Given the description of an element on the screen output the (x, y) to click on. 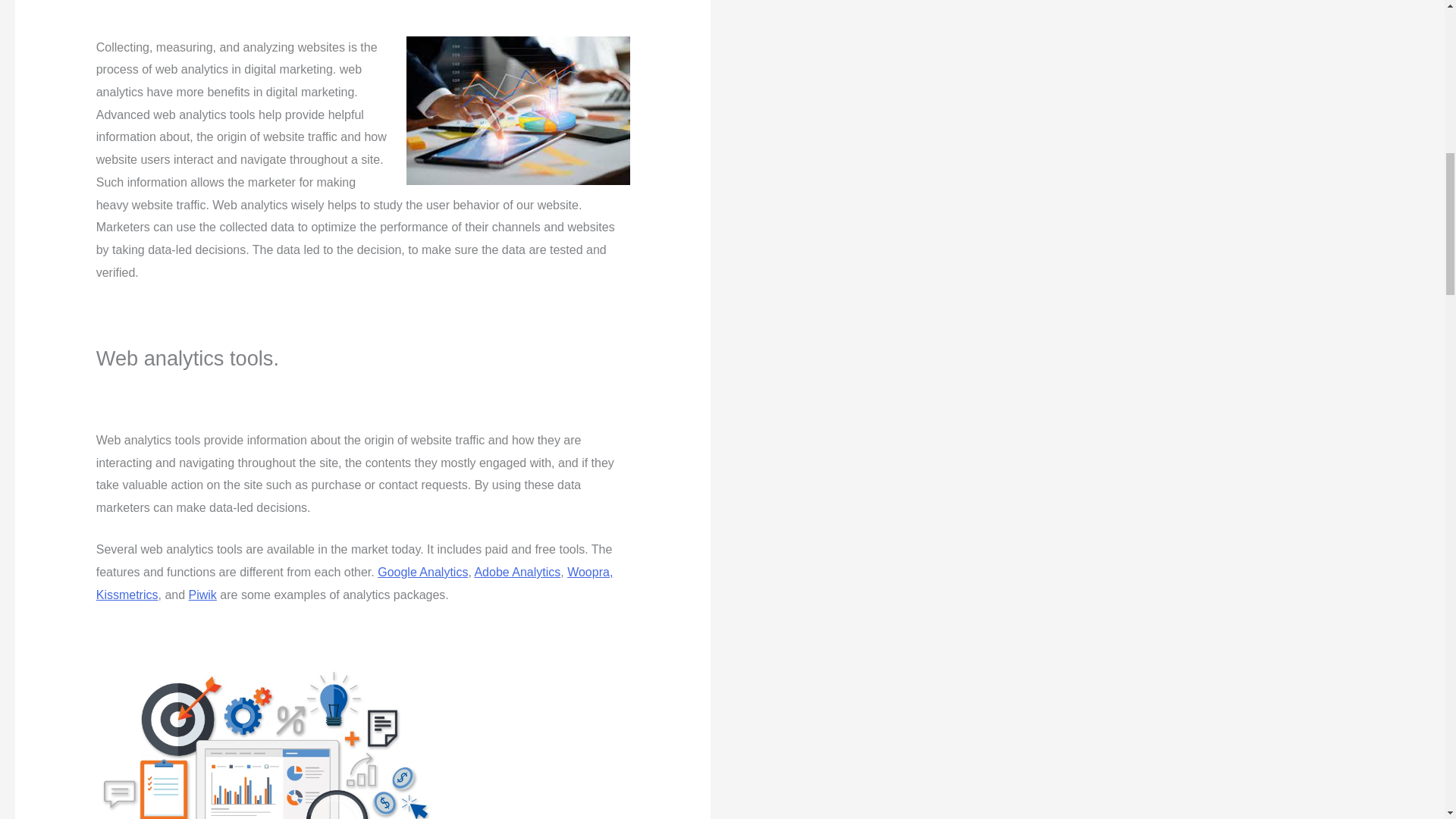
Google Analytics (422, 571)
Kissmetrics (127, 594)
Adobe Analytics (517, 571)
Piwik (202, 594)
Woopra, (589, 571)
